Given the description of an element on the screen output the (x, y) to click on. 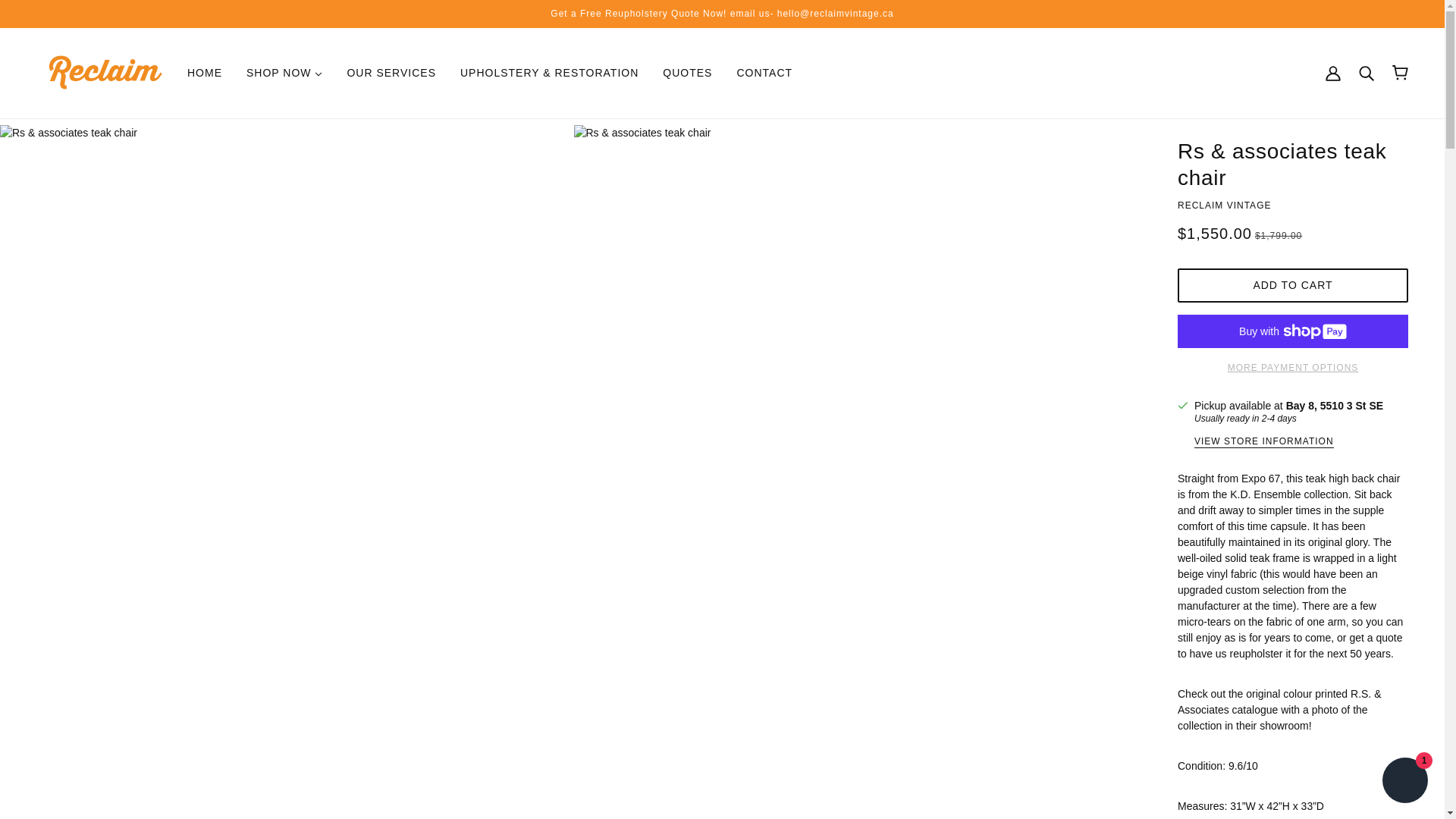
VIEW STORE INFORMATION (1263, 441)
Shopify online store chat (1404, 781)
CONTACT (764, 72)
ADD TO CART (1292, 285)
SHOP NOW (284, 72)
OUR SERVICES (391, 72)
Bay 8, 5510 3 St SE (1334, 405)
MORE PAYMENT OPTIONS (1292, 361)
HOME (204, 72)
RECLAIM VINTAGE (1224, 204)
Reclaim Vintage (105, 71)
QUOTES (686, 72)
